Given the description of an element on the screen output the (x, y) to click on. 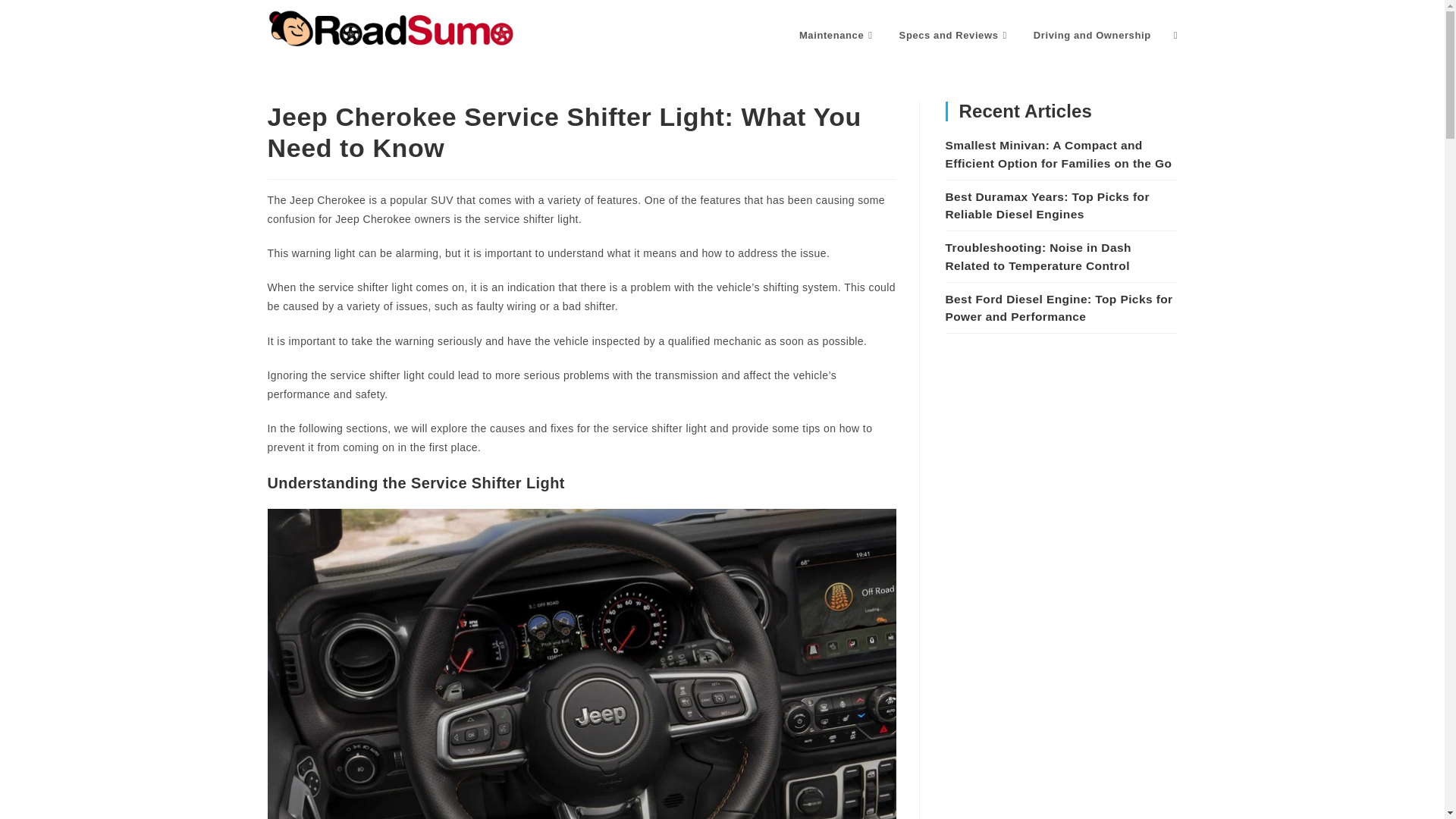
Maintenance (837, 35)
Driving and Ownership (1091, 35)
Specs and Reviews (955, 35)
